Given the description of an element on the screen output the (x, y) to click on. 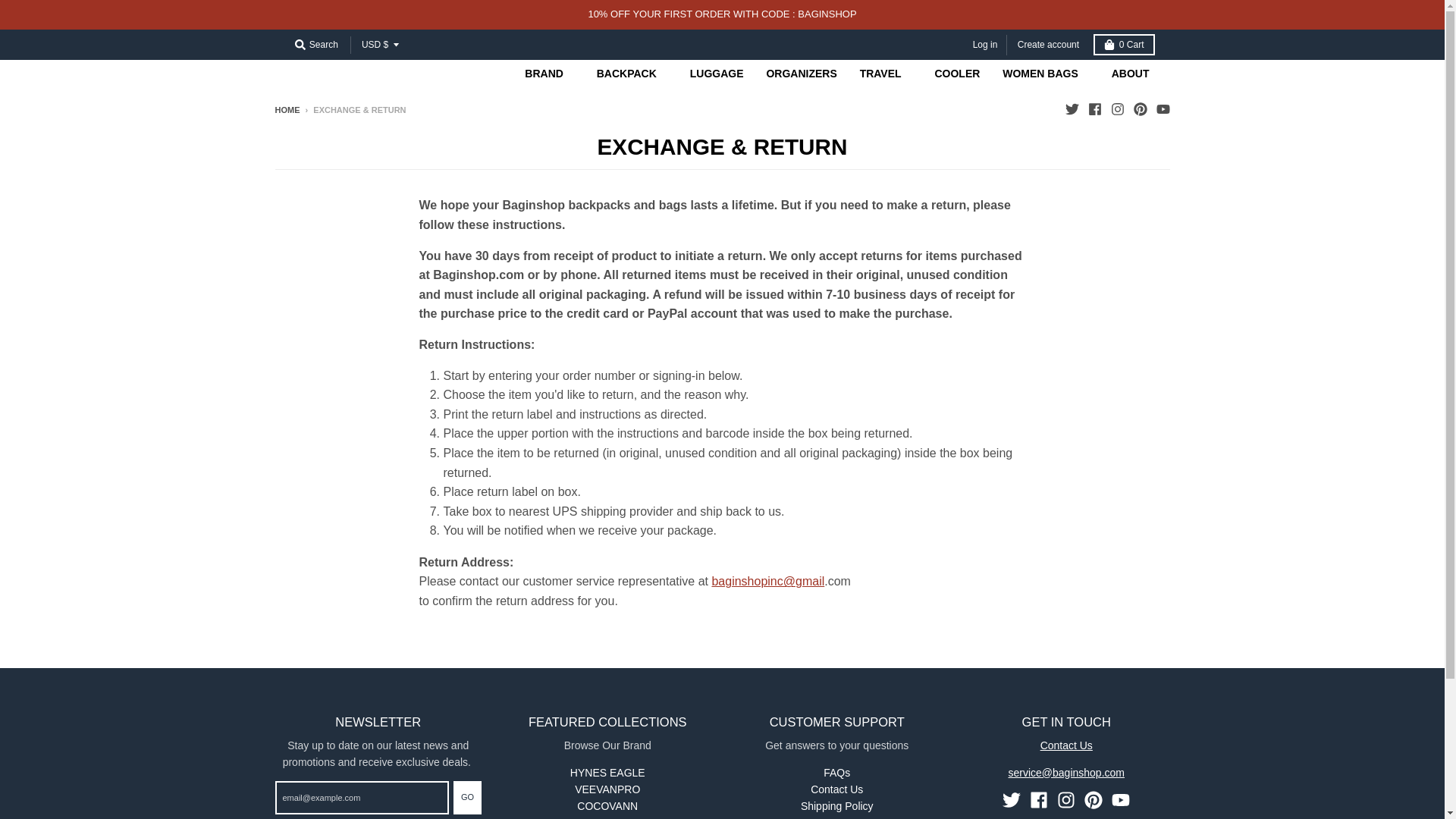
Instagram - BAGINSHOP (1066, 800)
TRAVEL (885, 72)
Back to the frontpage (287, 109)
0 Cart (1123, 44)
Twitter - BAGINSHOP (1011, 800)
COOLER (957, 72)
Pinterest - BAGINSHOP (1139, 109)
Instagram - BAGINSHOP (1116, 109)
Facebook - BAGINSHOP (1093, 109)
BRAND (549, 72)
